Given the description of an element on the screen output the (x, y) to click on. 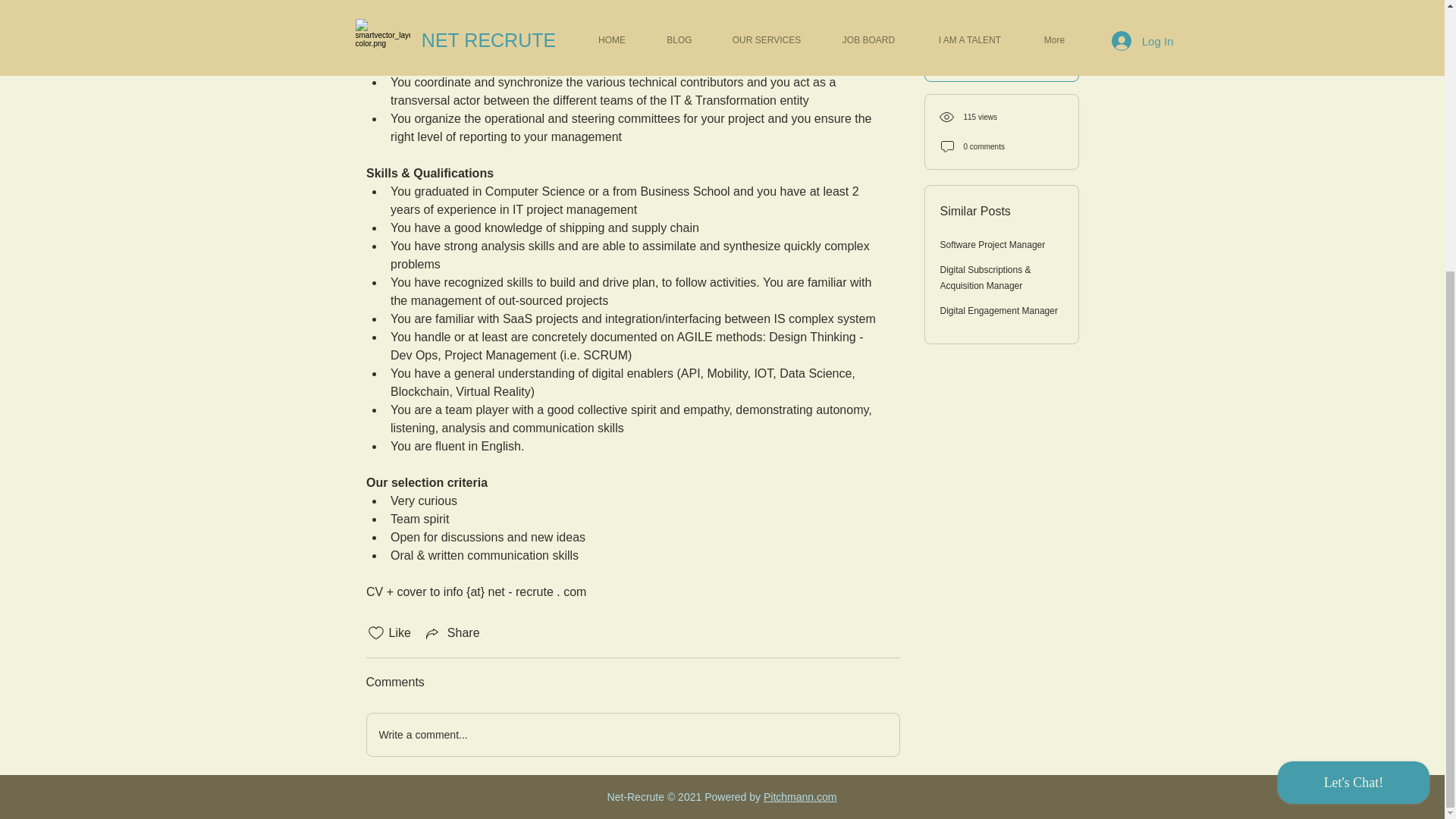
Share (451, 633)
Digital Engagement Manager (999, 44)
Pitchmann.com (798, 797)
Write a comment... (632, 734)
